Given the description of an element on the screen output the (x, y) to click on. 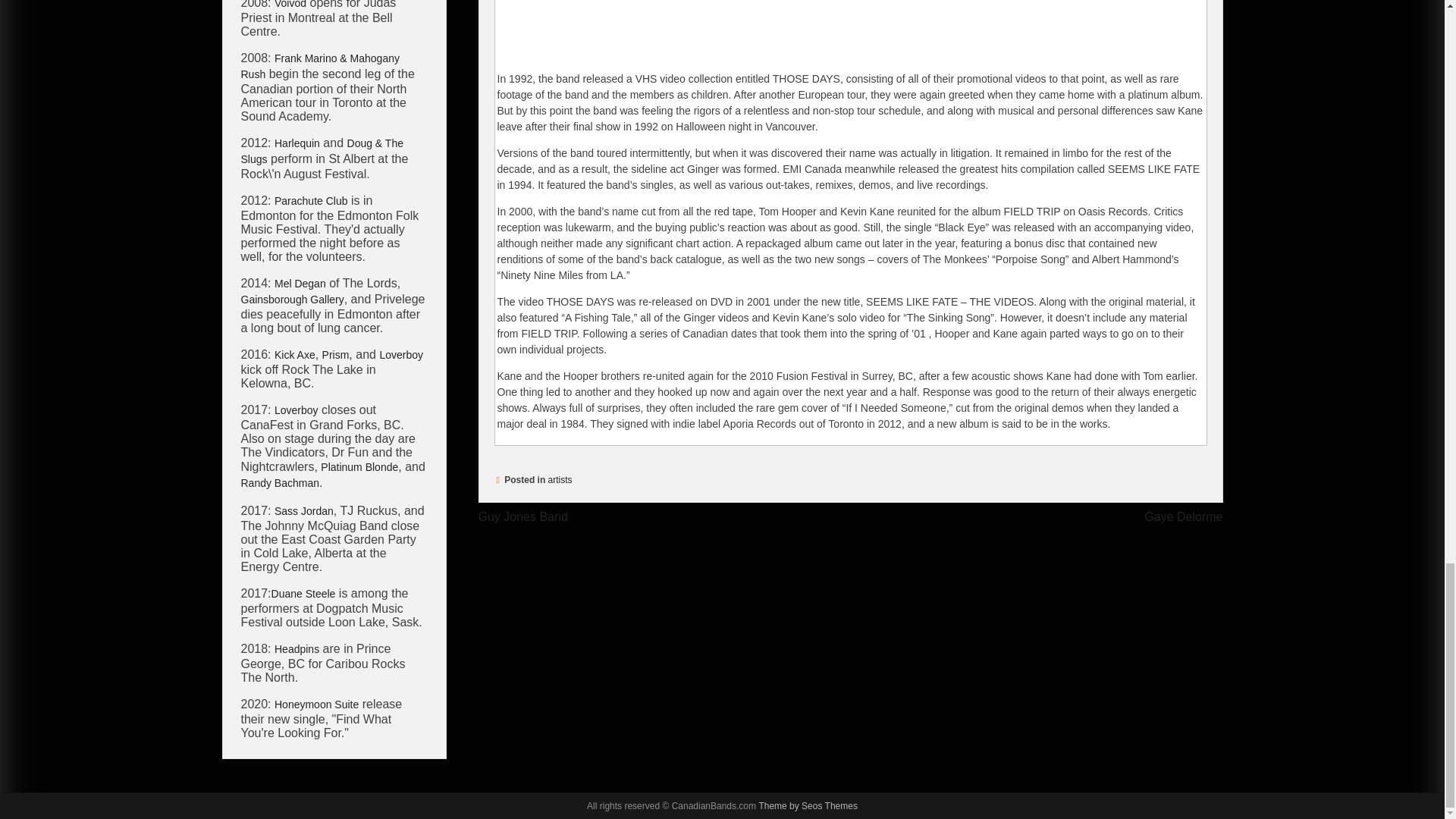
Guy Jones Band (522, 516)
Seos Themes (807, 805)
artists (560, 480)
Gaye Delorme (1183, 516)
